Given the description of an element on the screen output the (x, y) to click on. 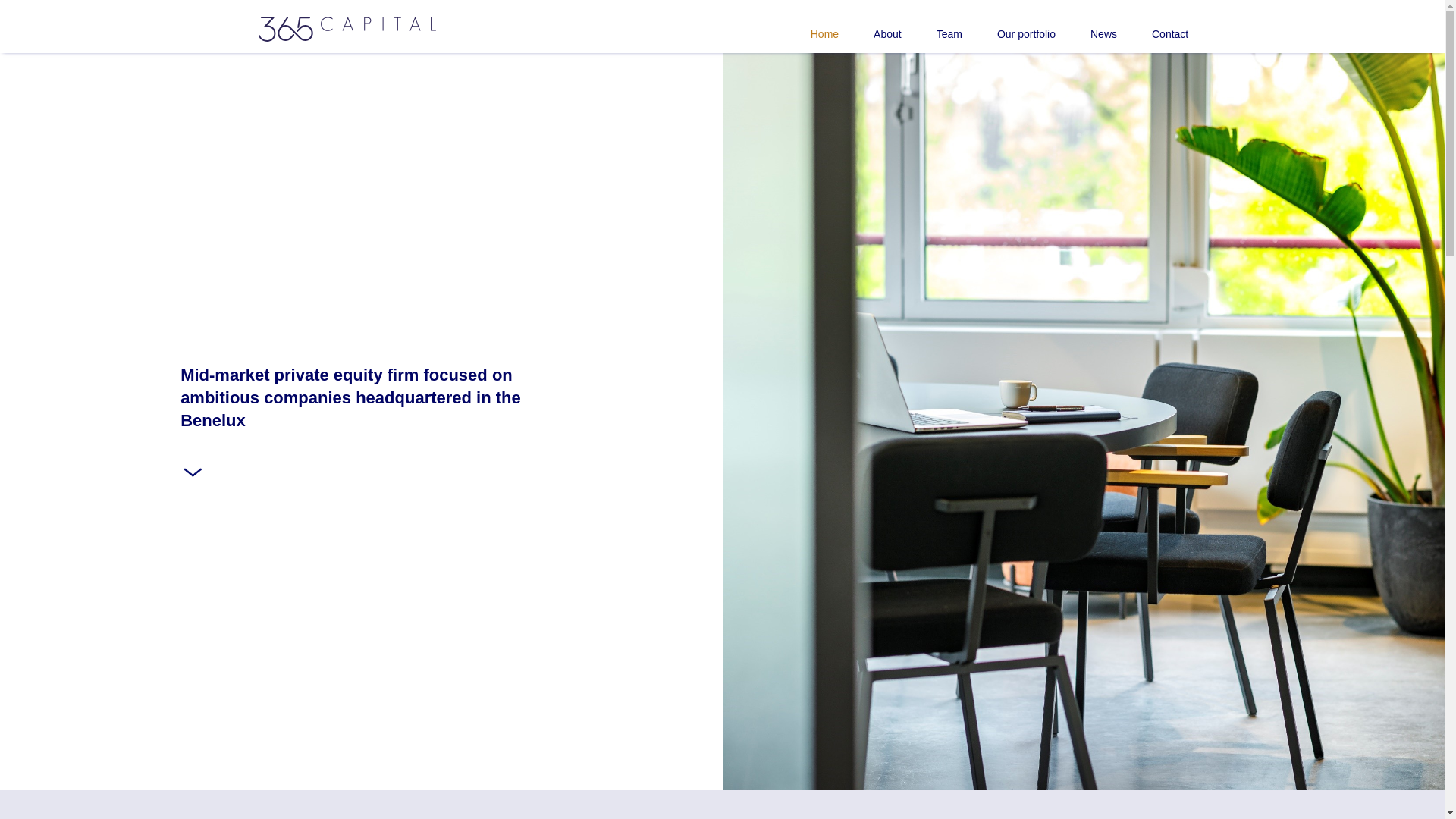
About Element type: text (869, 26)
Our portfolio Element type: text (1008, 26)
Contact Element type: text (1152, 26)
News Element type: text (1086, 26)
Home Element type: text (806, 26)
Team Element type: text (931, 26)
